Given the description of an element on the screen output the (x, y) to click on. 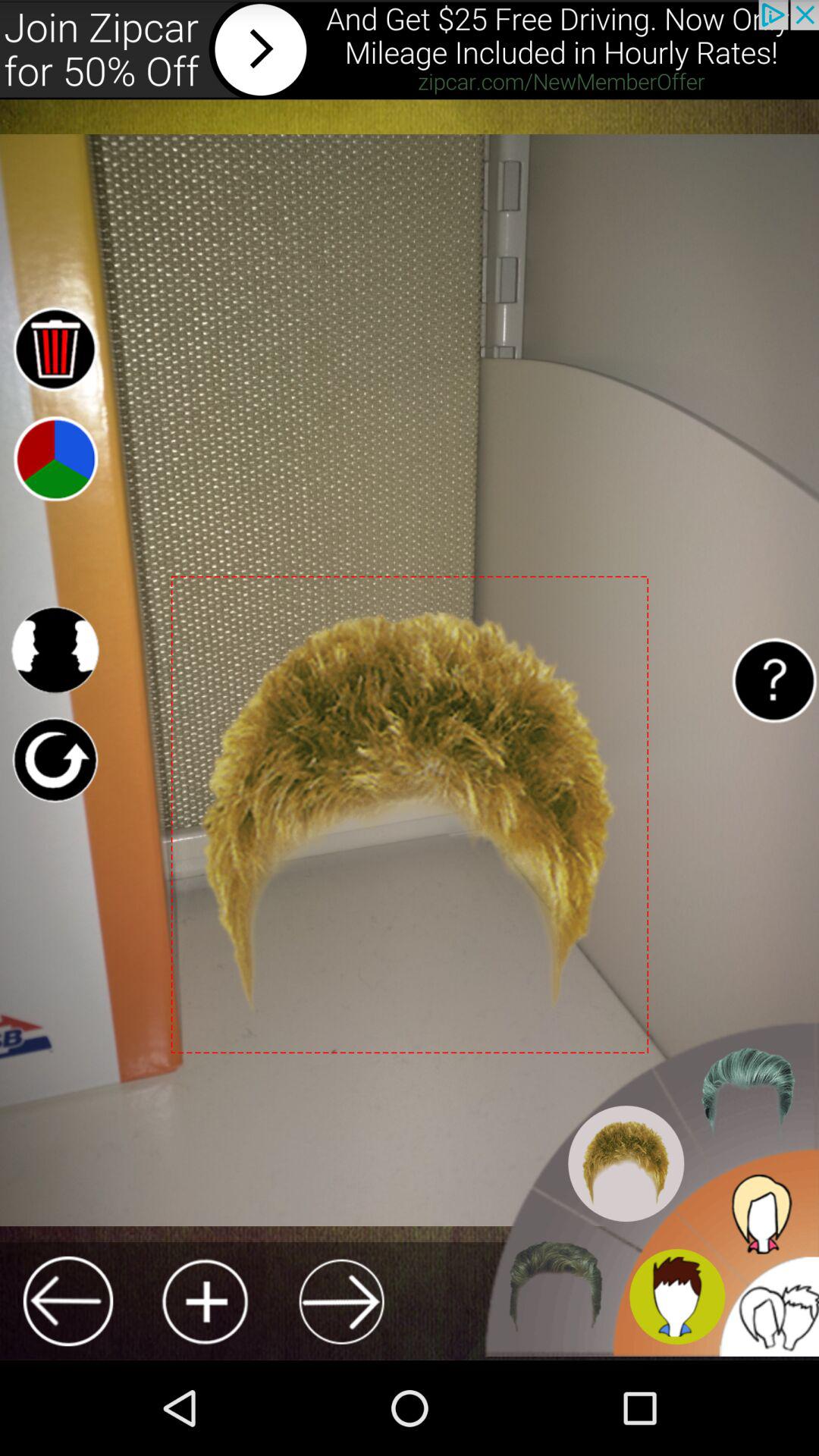
toggle advertisement (409, 49)
